Given the description of an element on the screen output the (x, y) to click on. 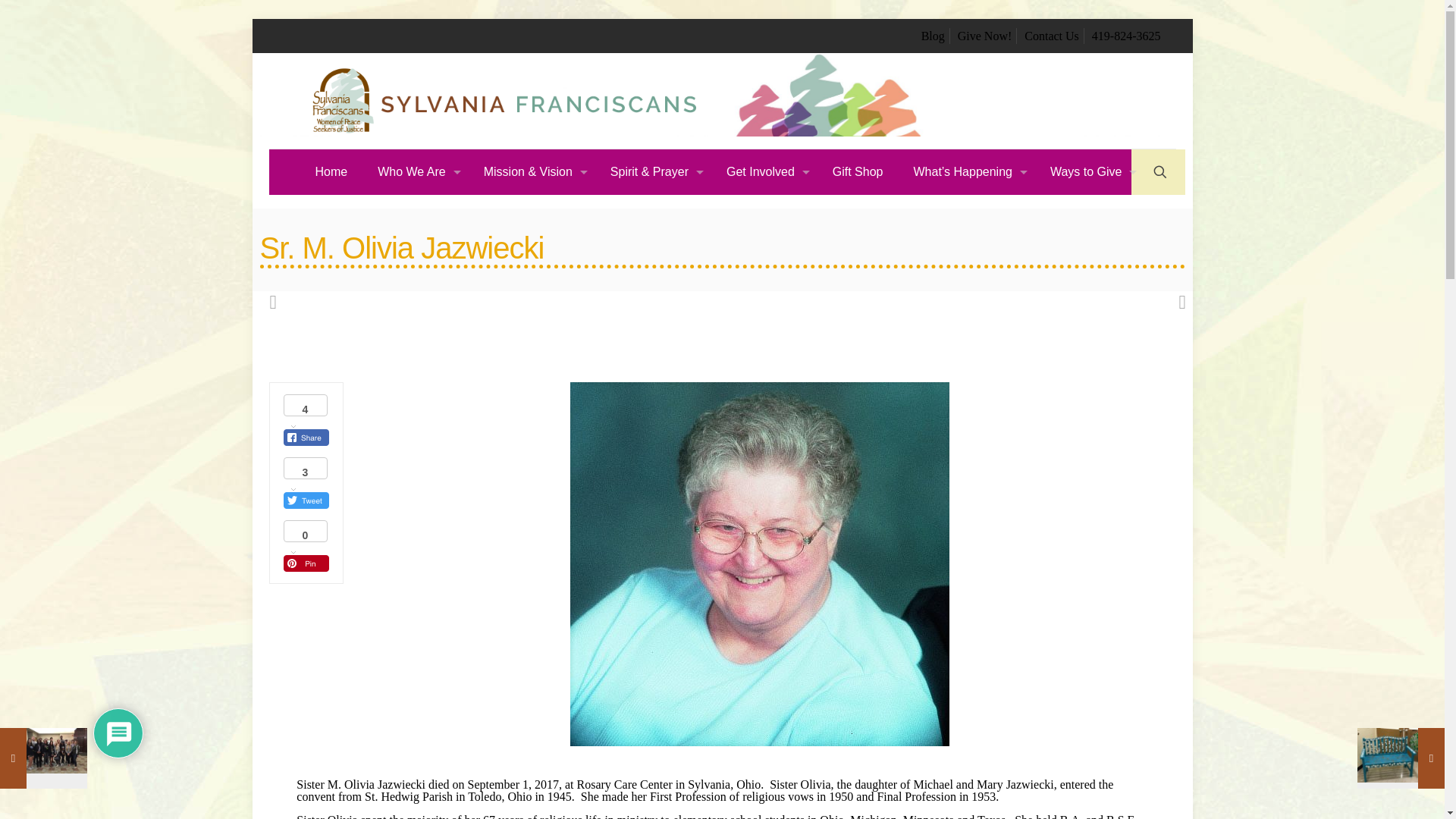
Blog (932, 35)
Home (330, 171)
Who We Are (415, 171)
Get Involved (763, 171)
Give Now! (984, 35)
419-824-3625 (1126, 35)
Contact Us (1051, 35)
